Given the description of an element on the screen output the (x, y) to click on. 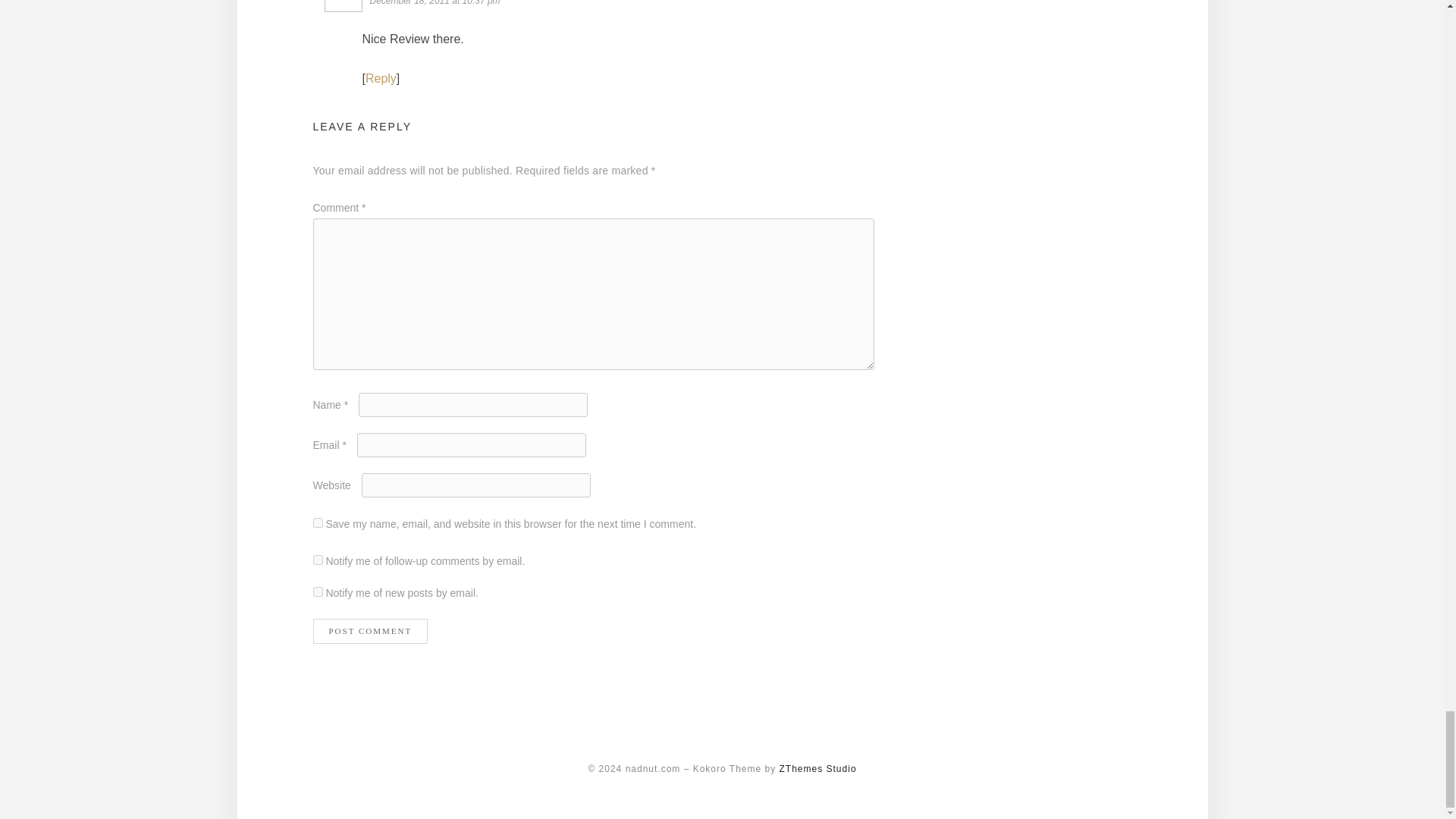
Post Comment (370, 631)
yes (317, 522)
subscribe (317, 592)
subscribe (317, 560)
